Given the description of an element on the screen output the (x, y) to click on. 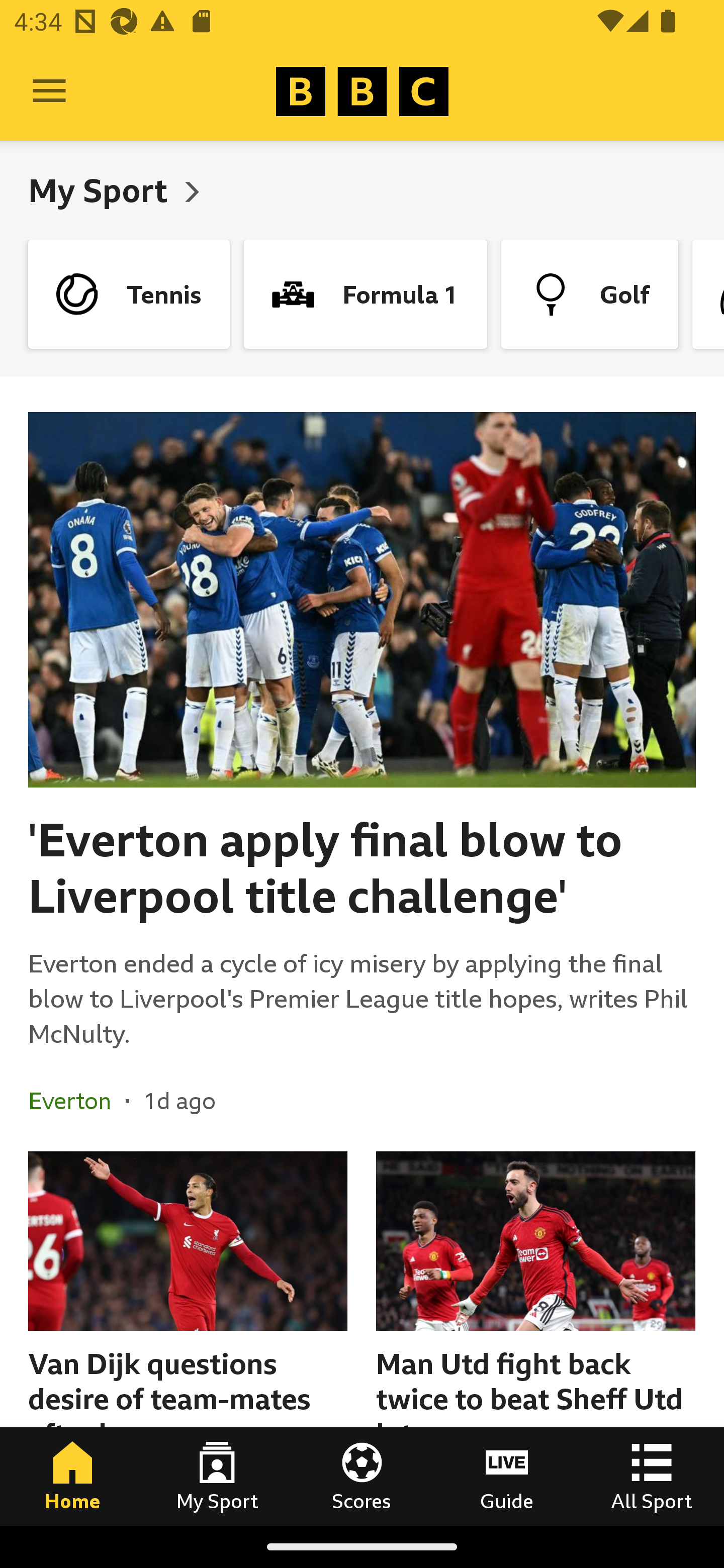
Open Menu (49, 91)
My Sport (101, 190)
Everton In the section Everton (76, 1100)
My Sport (216, 1475)
Scores (361, 1475)
Guide (506, 1475)
All Sport (651, 1475)
